Given the description of an element on the screen output the (x, y) to click on. 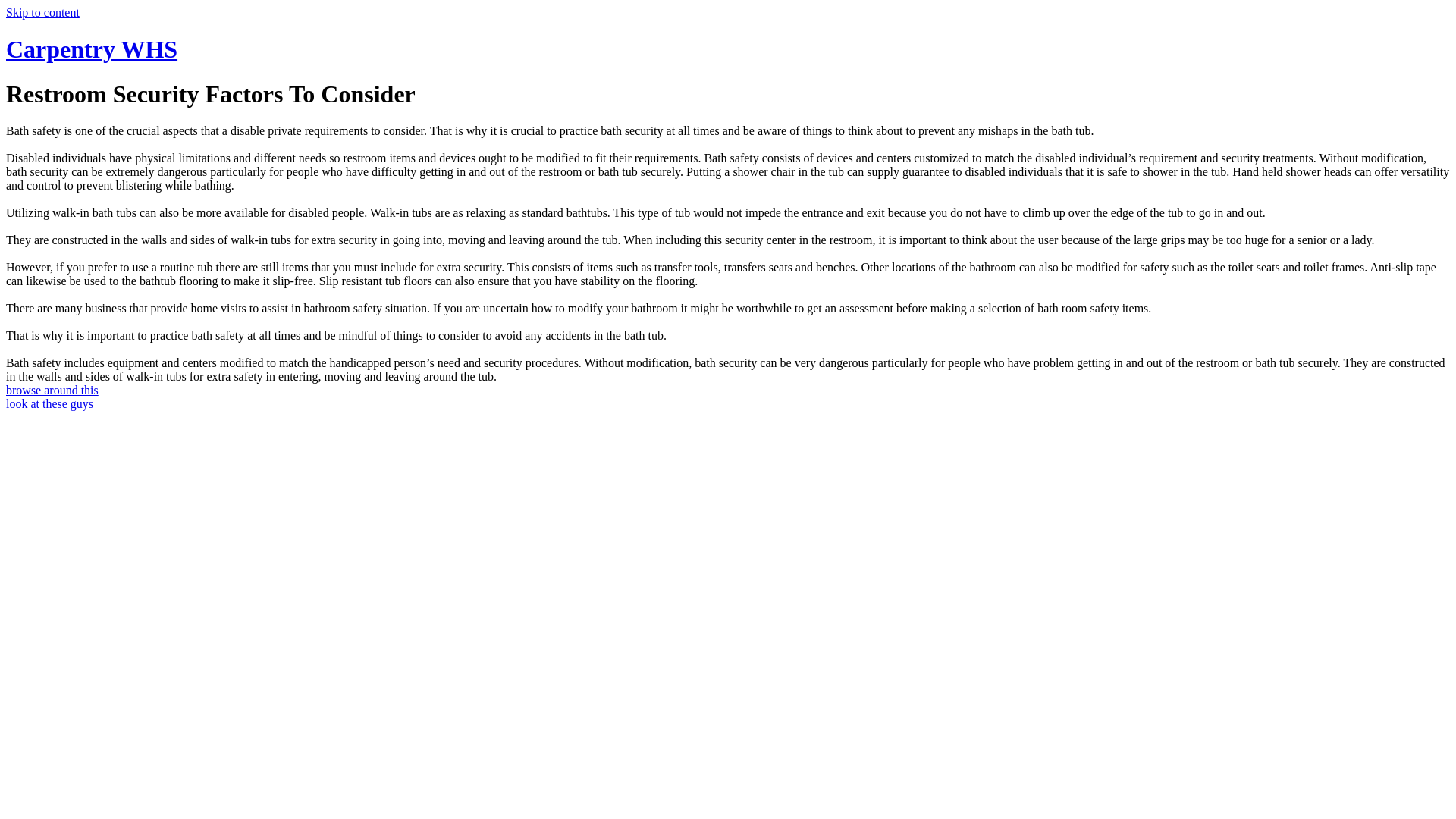
Carpentry WHS Element type: text (91, 48)
look at these guys Element type: text (49, 403)
Skip to content Element type: text (42, 12)
browse around this Element type: text (52, 389)
